Given the description of an element on the screen output the (x, y) to click on. 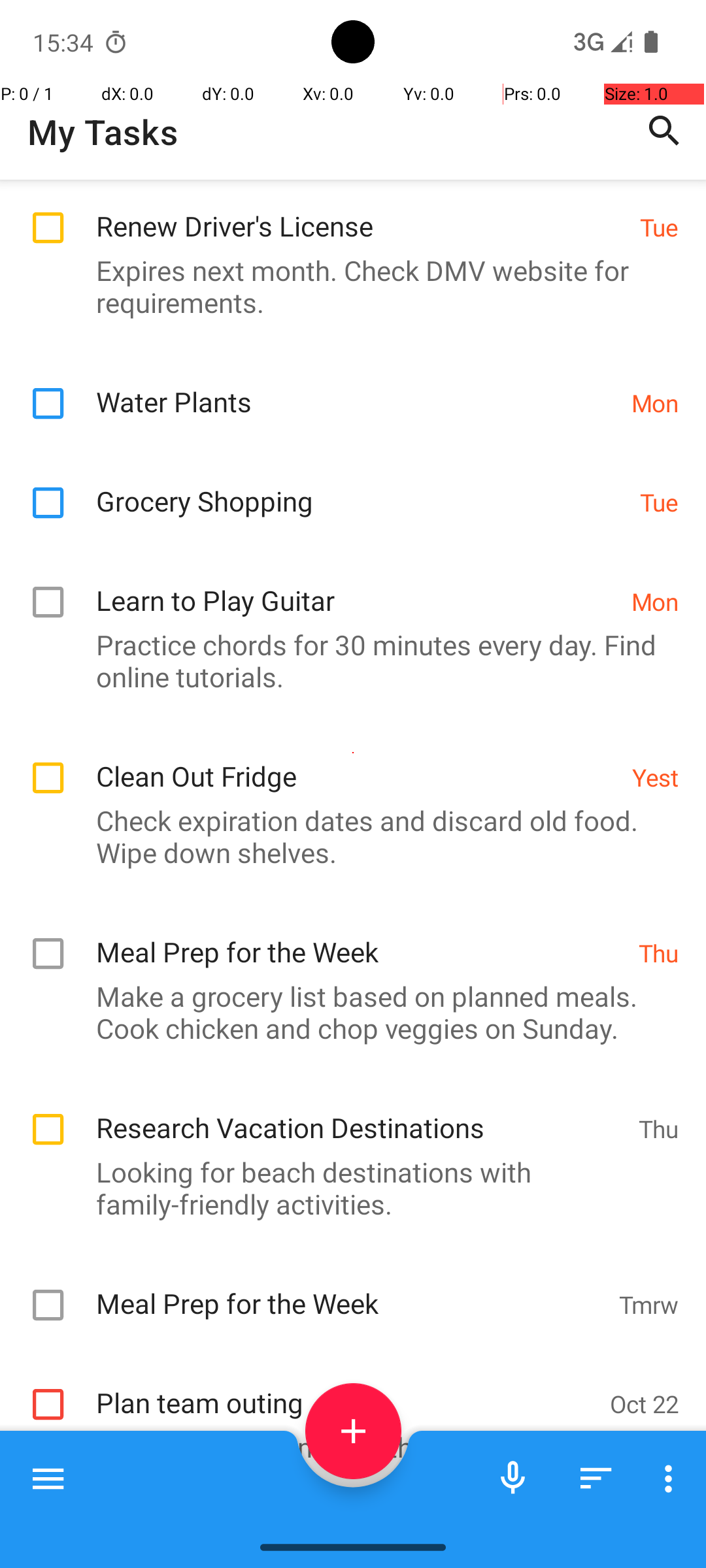
Plan team outing Element type: android.widget.TextView (346, 1388)
Remember to complete this task. Element type: android.widget.TextView (346, 1446)
